Given the description of an element on the screen output the (x, y) to click on. 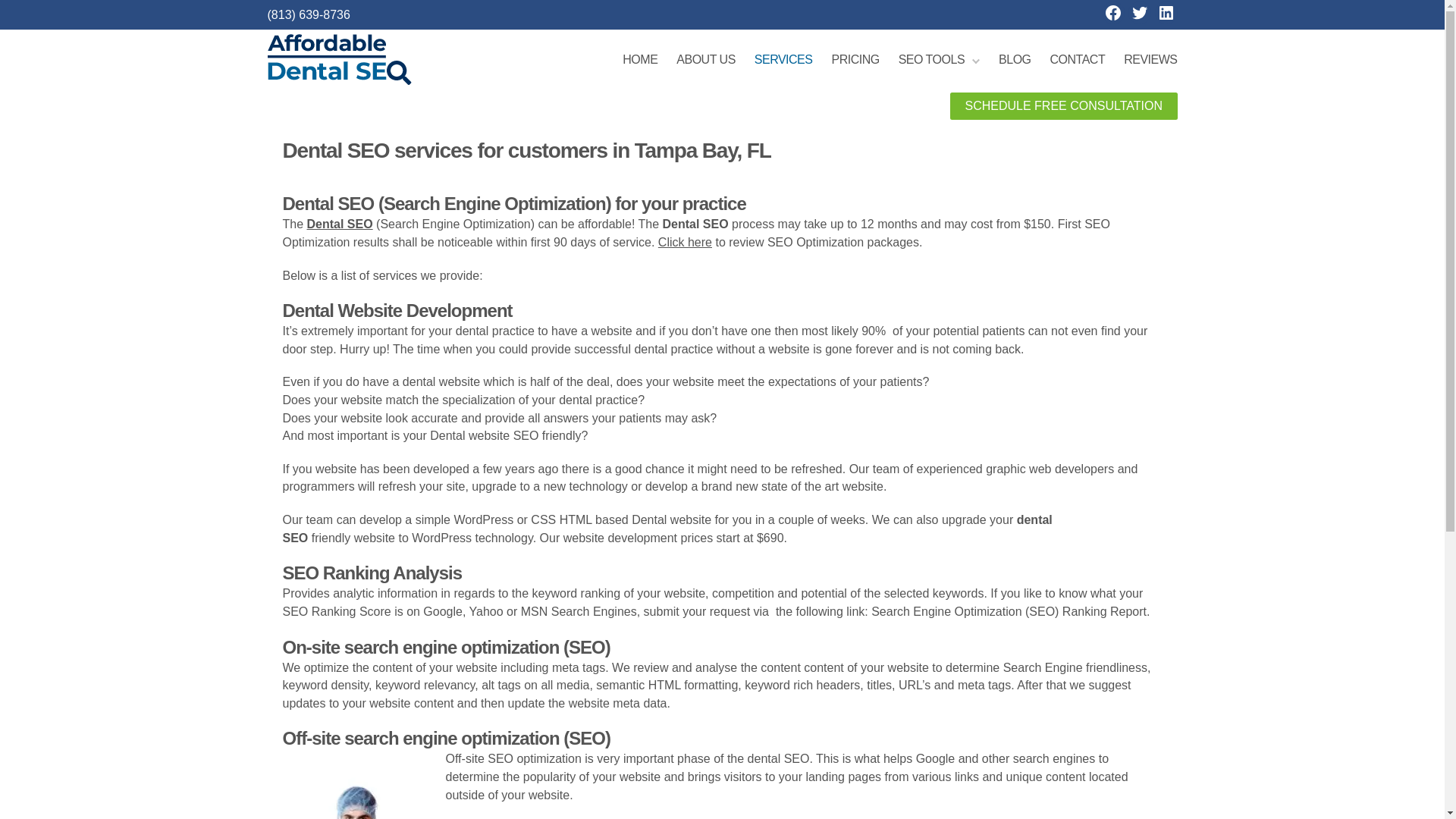
REVIEWS (1150, 59)
ABOUT US (706, 59)
SERVICES (783, 59)
Dental SEO (339, 223)
PRICING (855, 59)
SEO TOOLS (938, 59)
Click here (684, 241)
CONTACT (1077, 59)
SCHEDULE FREE CONSULTATION (1063, 105)
HOME (640, 59)
